Given the description of an element on the screen output the (x, y) to click on. 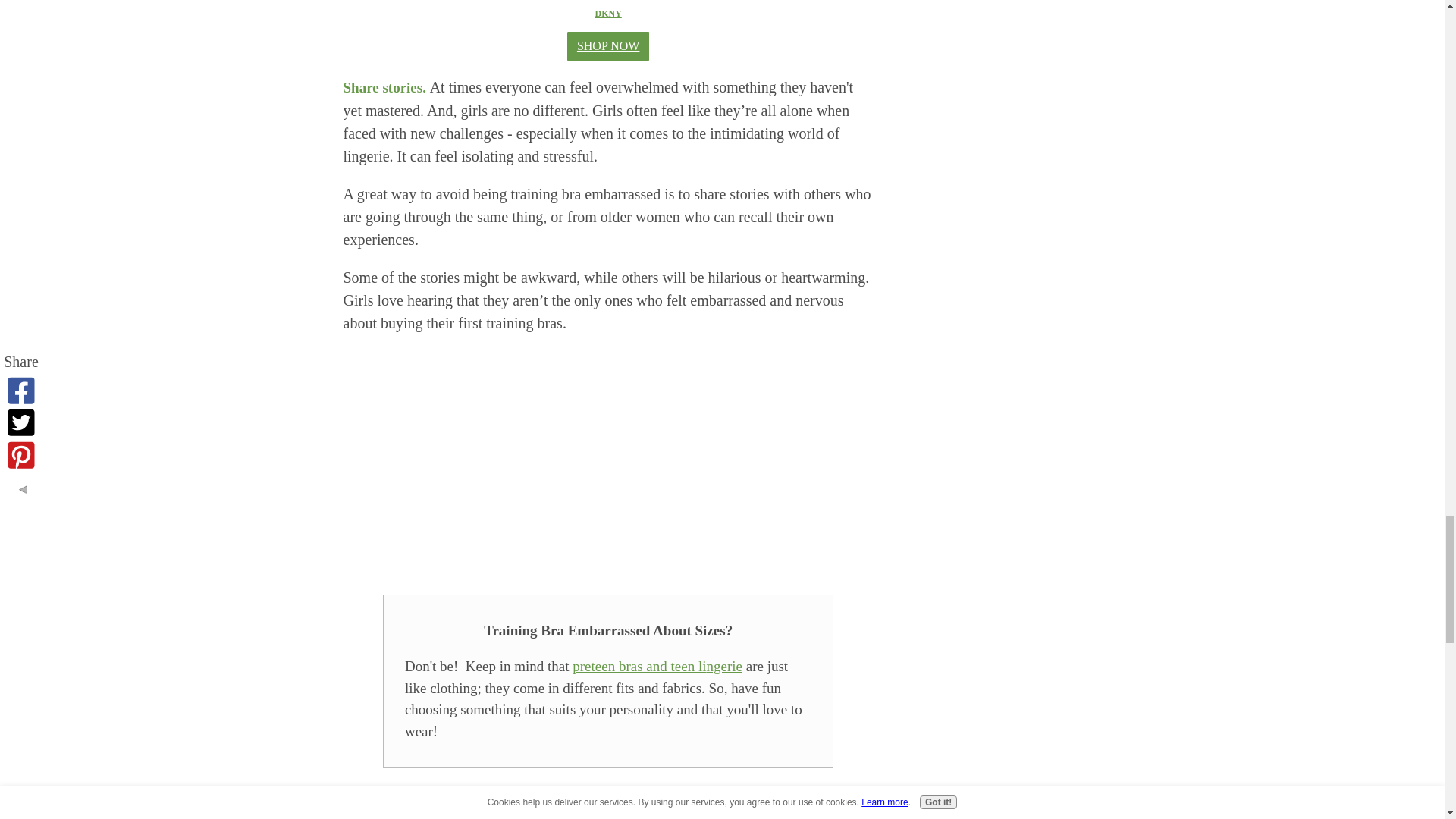
first bras (608, 459)
